Given the description of an element on the screen output the (x, y) to click on. 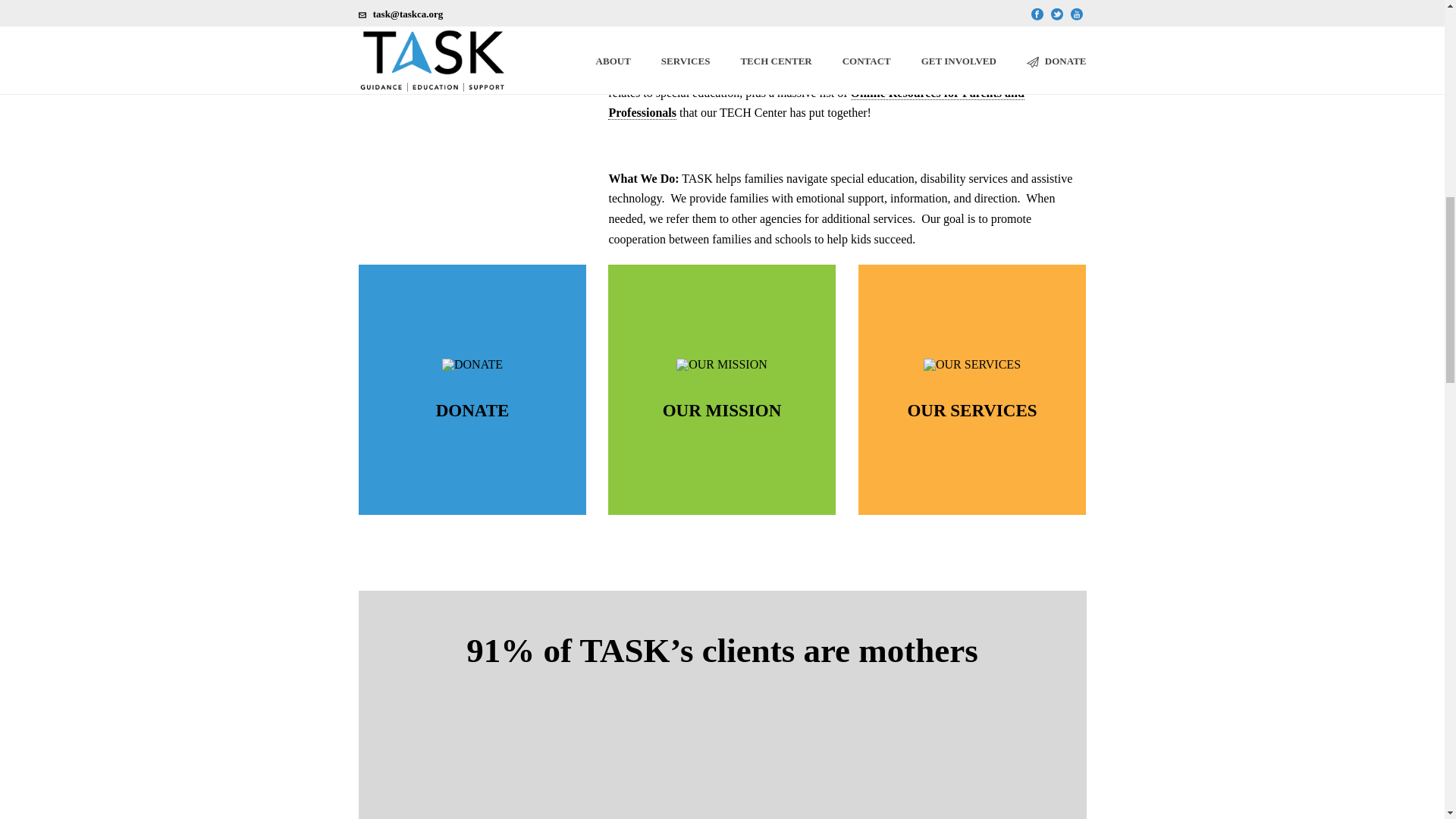
WHAT WE DO (971, 471)
ABOUT US (721, 461)
HOW WE HELP (471, 451)
